Given the description of an element on the screen output the (x, y) to click on. 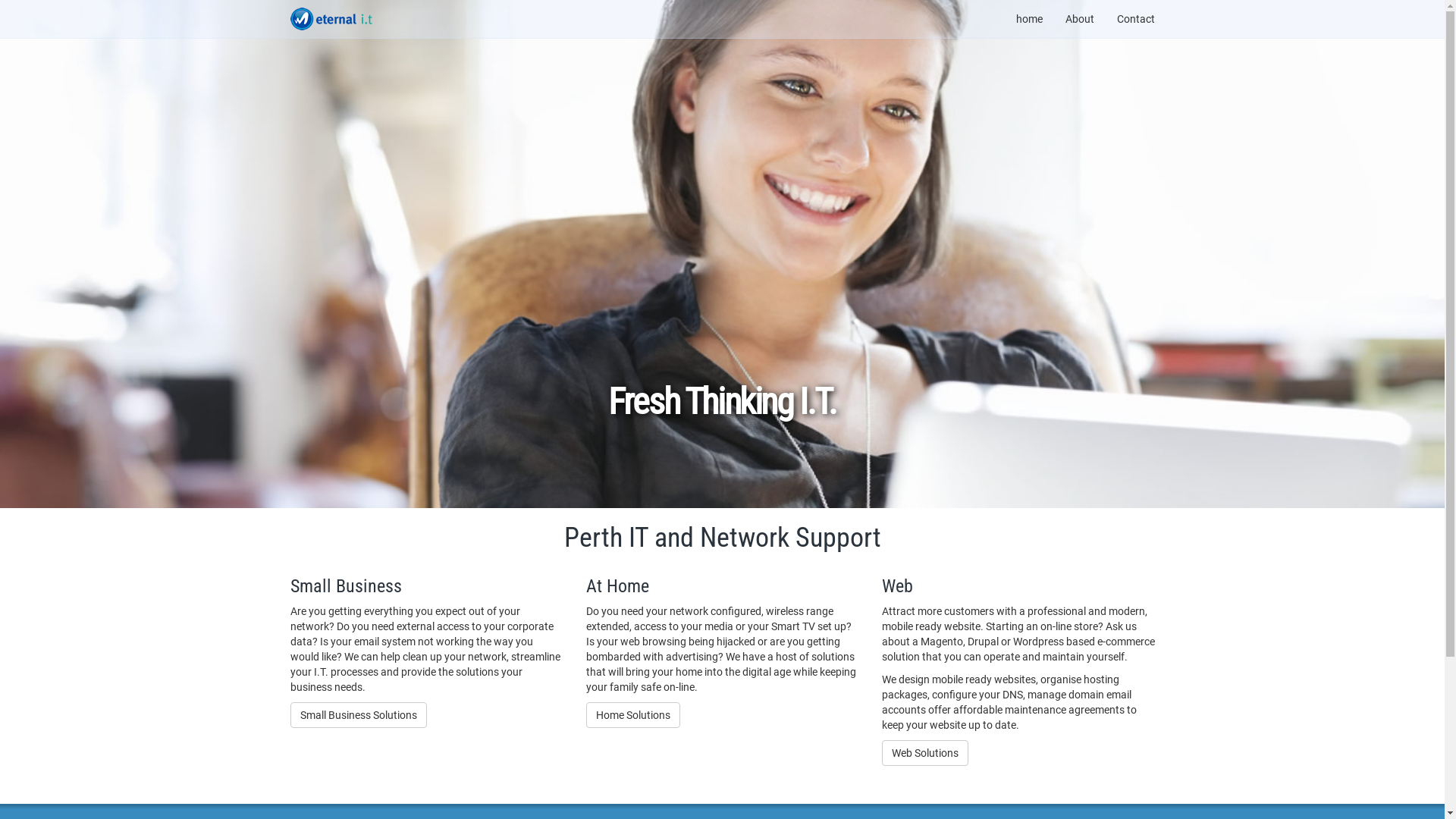
Contact Element type: text (1135, 18)
About Element type: text (1079, 18)
Web Solutions Element type: text (924, 752)
Small Business Solutions Element type: text (357, 715)
home Element type: text (1028, 18)
Home Solutions Element type: text (632, 715)
